Given the description of an element on the screen output the (x, y) to click on. 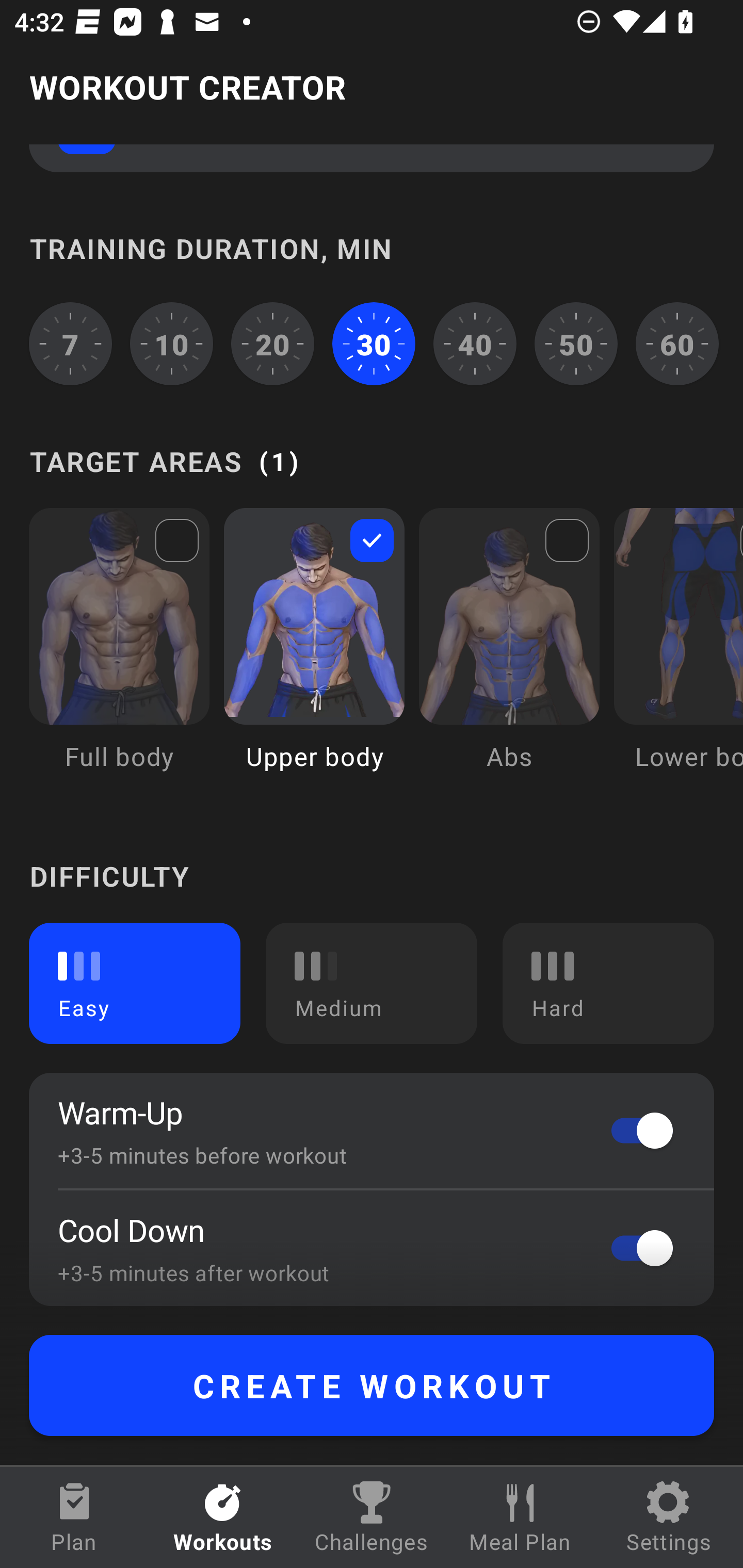
7 (70, 343)
10 (171, 343)
20 (272, 343)
30 (373, 343)
40 (474, 343)
50 (575, 343)
60 (676, 343)
Full body (118, 653)
Abs (509, 653)
Lower body (678, 653)
Medium (371, 982)
Hard (608, 982)
CREATE WORKOUT (371, 1385)
 Plan  (74, 1517)
 Challenges  (371, 1517)
 Meal Plan  (519, 1517)
 Settings  (668, 1517)
